Given the description of an element on the screen output the (x, y) to click on. 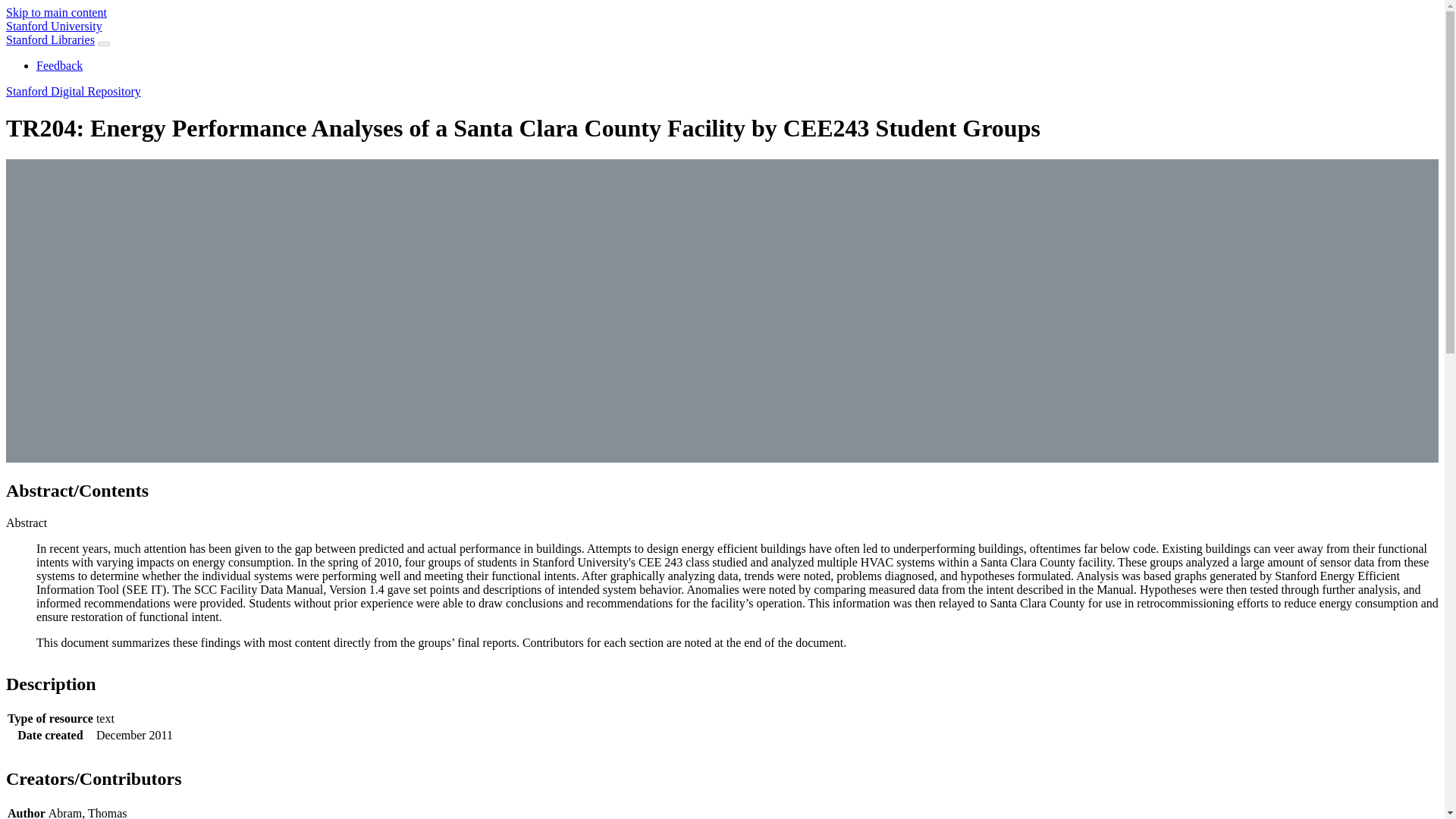
Skip to main content (55, 11)
Stanford University (53, 25)
Feedback (59, 65)
Stanford Digital Repository (73, 91)
Stanford Libraries (49, 39)
